Given the description of an element on the screen output the (x, y) to click on. 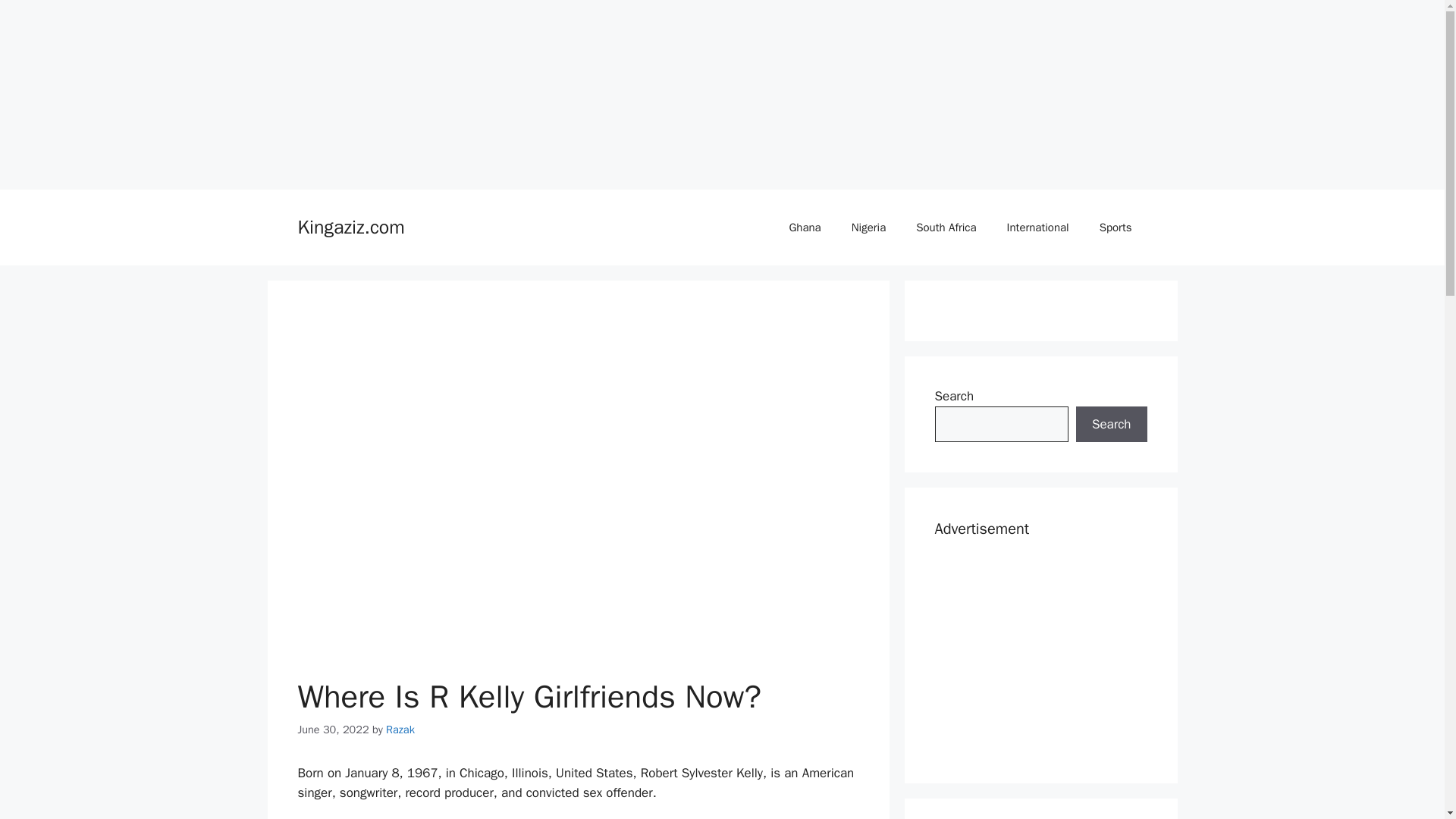
Sports (1115, 227)
Ghana (804, 227)
Nigeria (868, 227)
Search (1111, 424)
International (1037, 227)
View all posts by Razak (399, 729)
South Africa (946, 227)
Kingaziz.com (350, 227)
Razak (399, 729)
